Given the description of an element on the screen output the (x, y) to click on. 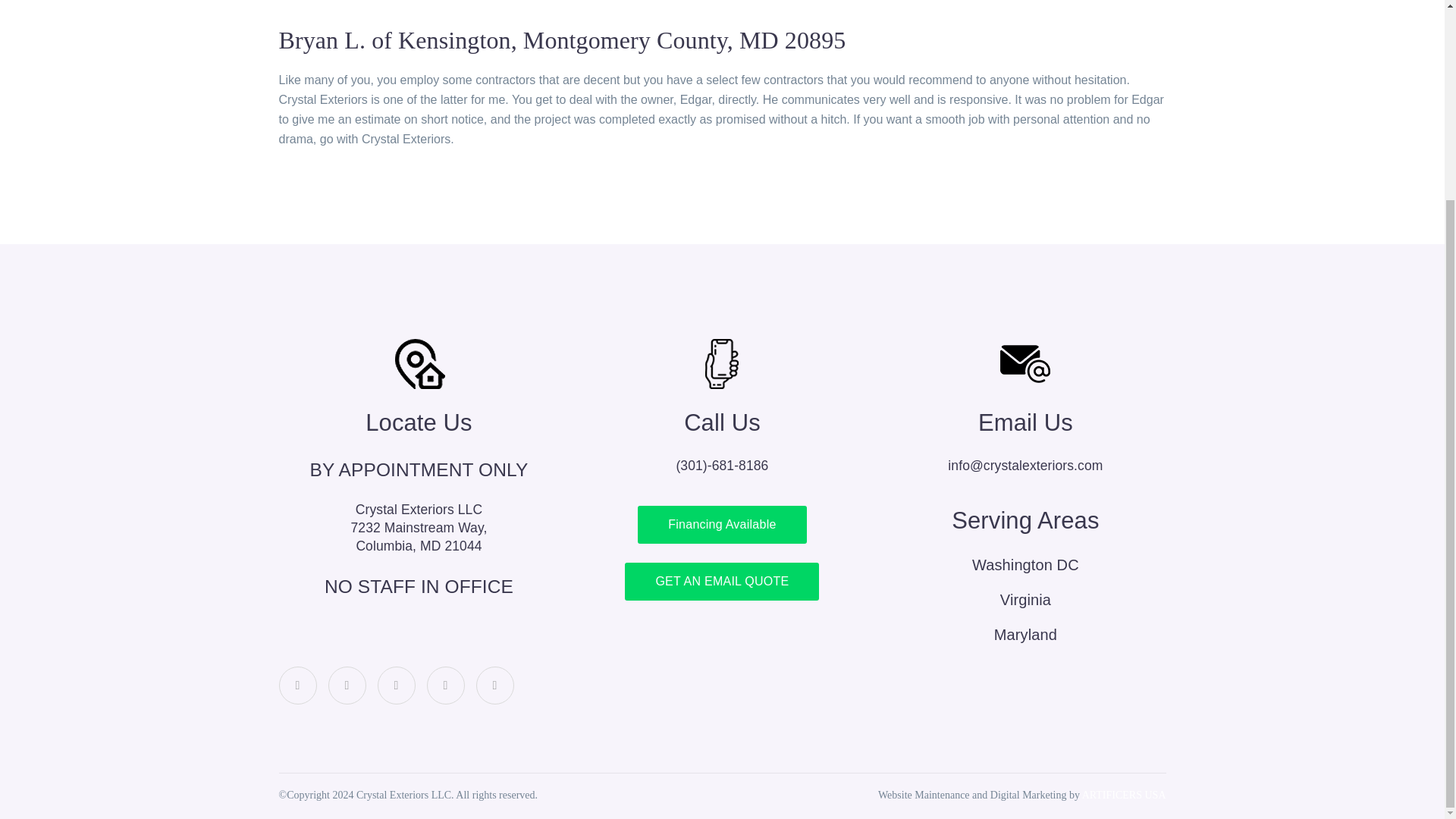
pinterest (445, 685)
instagram (418, 536)
youtube (494, 685)
GET AN EMAIL QUOTE (395, 685)
facebook (721, 581)
artificersusa (346, 685)
twitter (1123, 794)
Financing Available (298, 685)
